Given the description of an element on the screen output the (x, y) to click on. 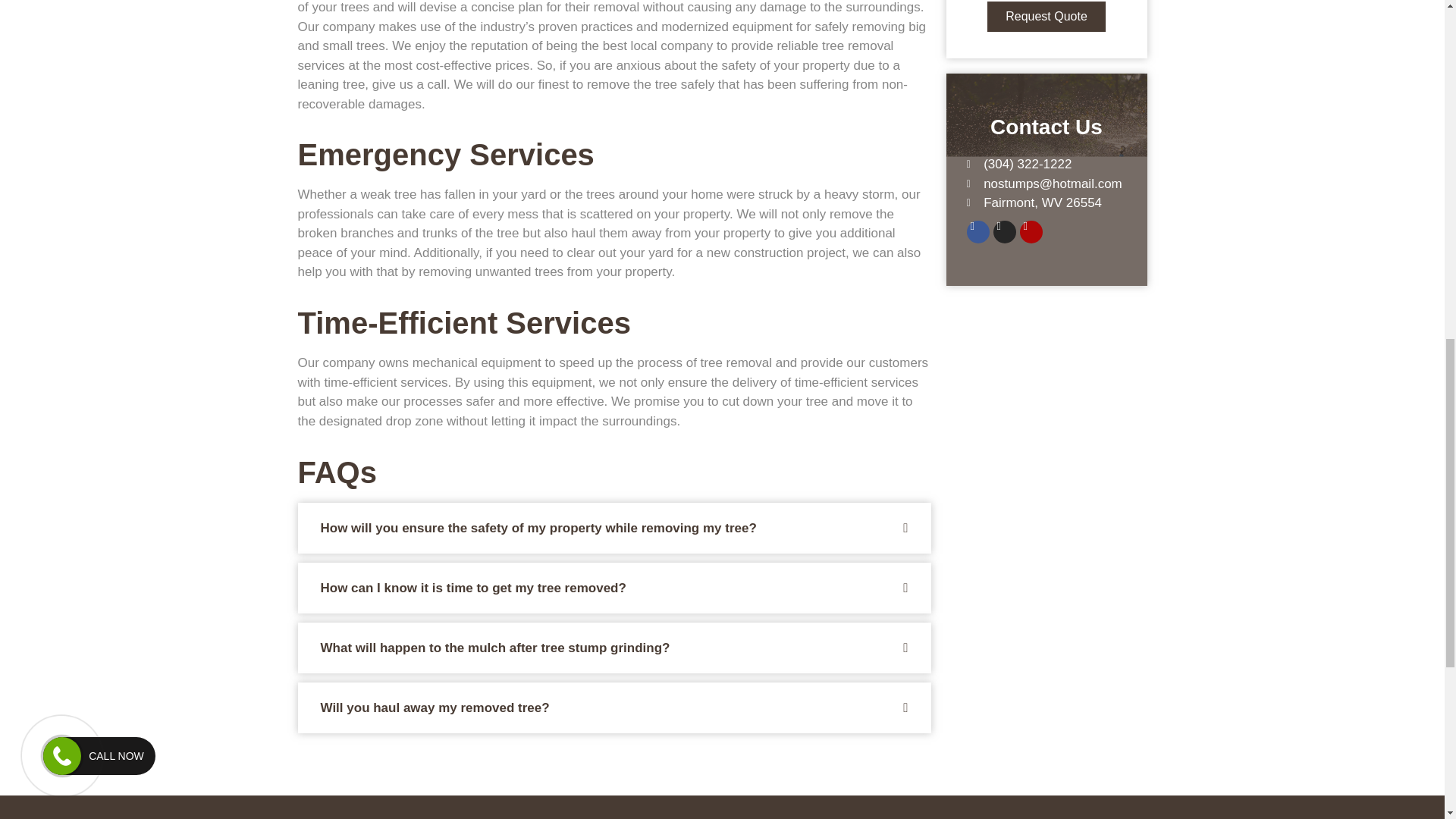
What will happen to the mulch after tree stump grinding? (494, 647)
Will you haul away my removed tree? (434, 707)
How can I know it is time to get my tree removed? (473, 587)
